Given the description of an element on the screen output the (x, y) to click on. 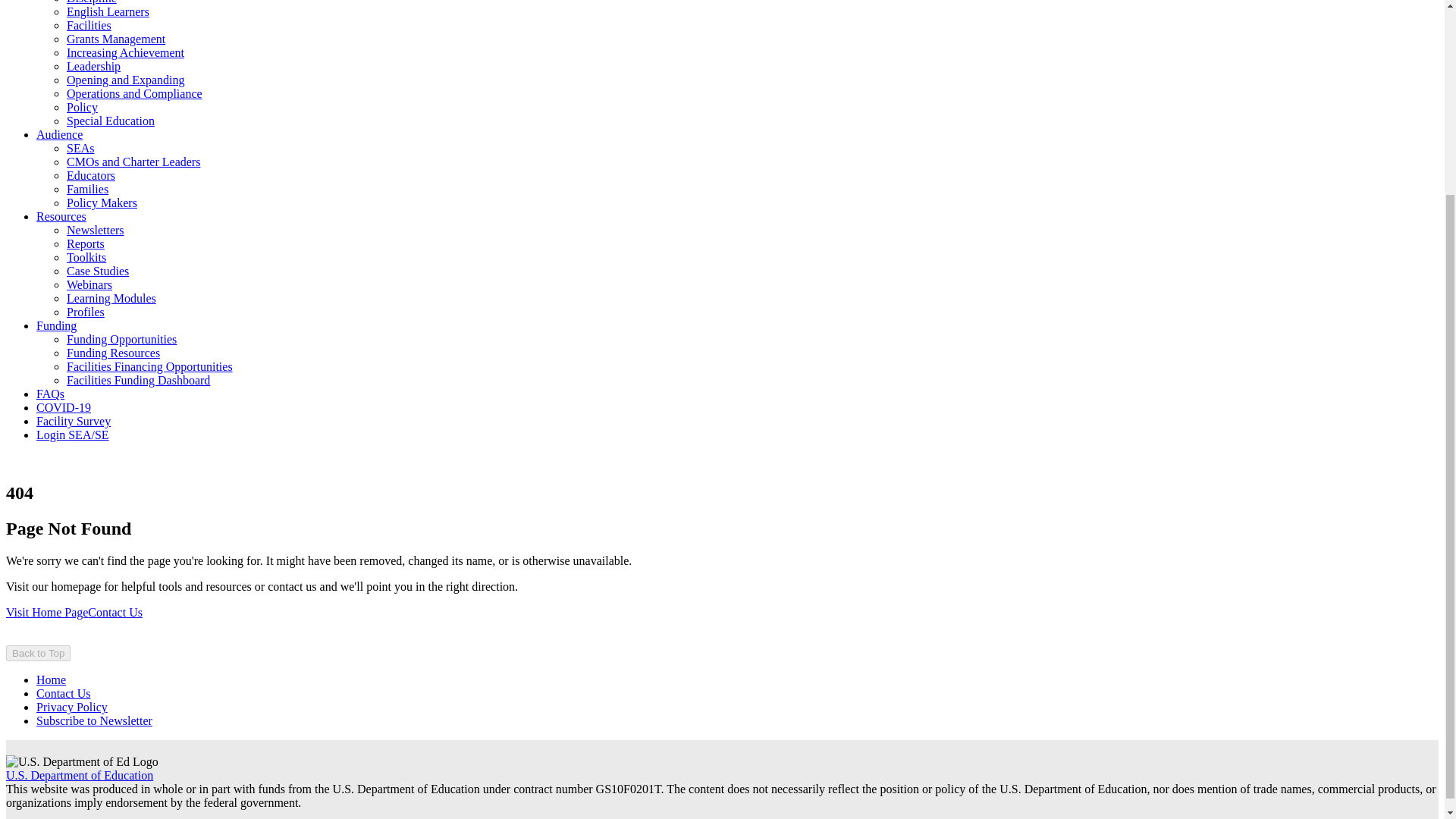
Facilities Financing Opportunities (149, 366)
Families (86, 188)
Grants Management (115, 38)
Reports (85, 243)
Profiles (85, 311)
Educators (90, 174)
SEAs (80, 147)
CMO and Charter Leaders (133, 161)
Leadership (93, 65)
Opening and Expanding (125, 79)
